Given the description of an element on the screen output the (x, y) to click on. 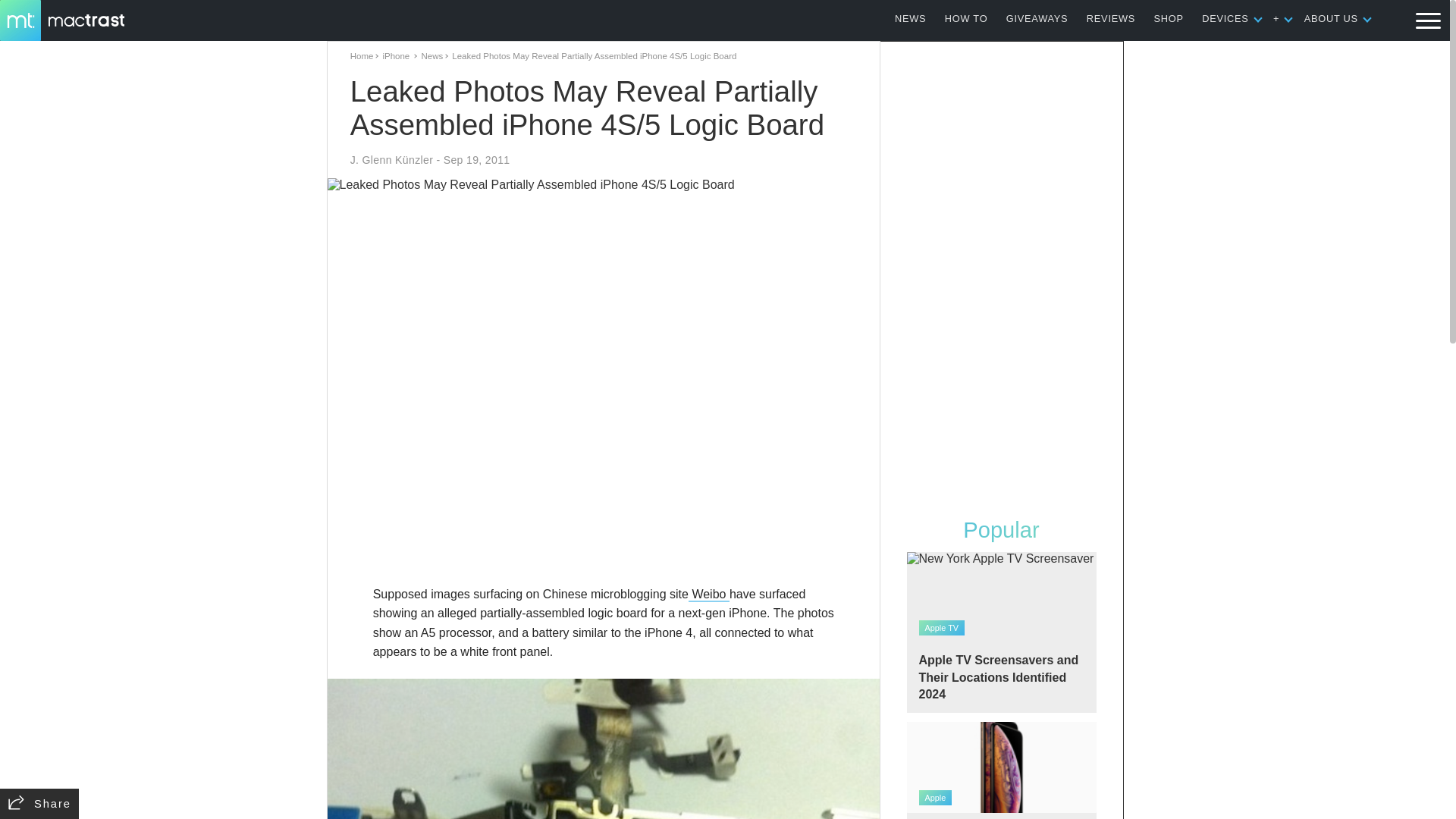
NEWS (910, 18)
Weibo iPhone Leak (603, 748)
GIVEAWAYS (1037, 18)
ABOUT US (1331, 18)
DEVICES (1224, 18)
HOW TO (966, 18)
SHOP (1168, 18)
REVIEWS (1110, 18)
Advertisement (603, 540)
